Given the description of an element on the screen output the (x, y) to click on. 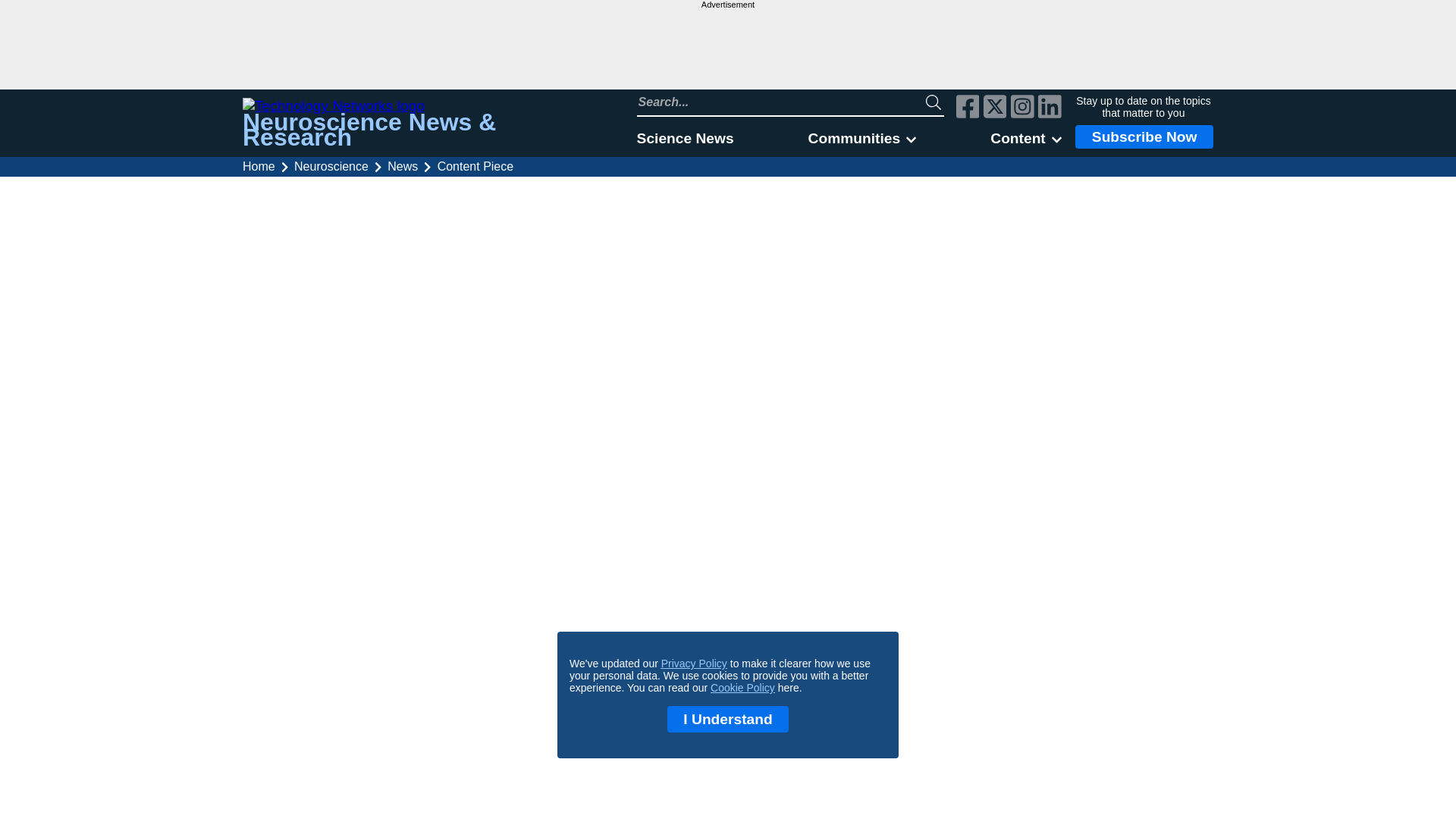
I Understand (727, 718)
Technology Networks logo (422, 105)
Privacy Policy (693, 663)
Search Technology Networks website input field (781, 102)
Cookie Policy (742, 687)
